Given the description of an element on the screen output the (x, y) to click on. 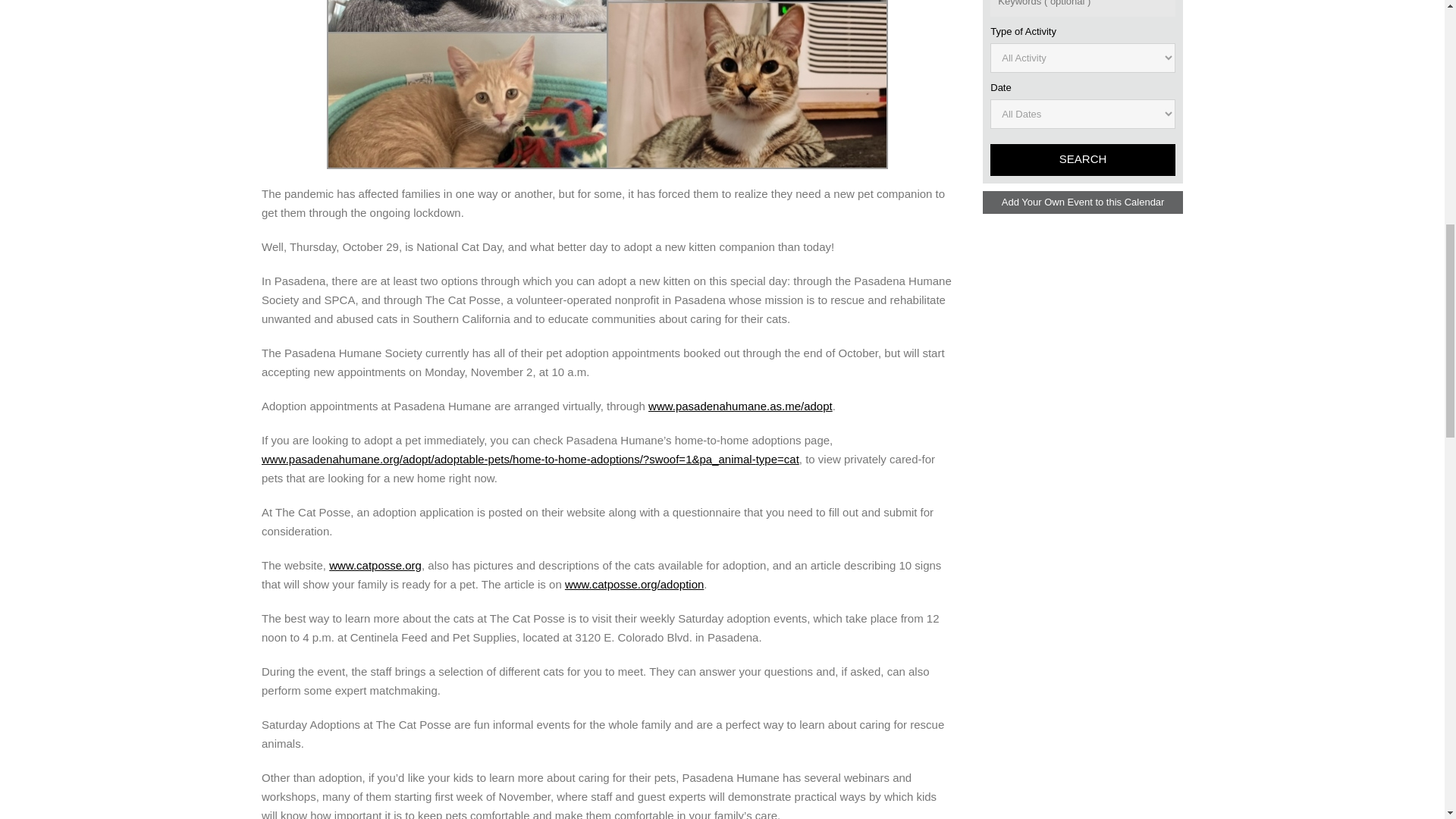
Search (1082, 160)
